Given the description of an element on the screen output the (x, y) to click on. 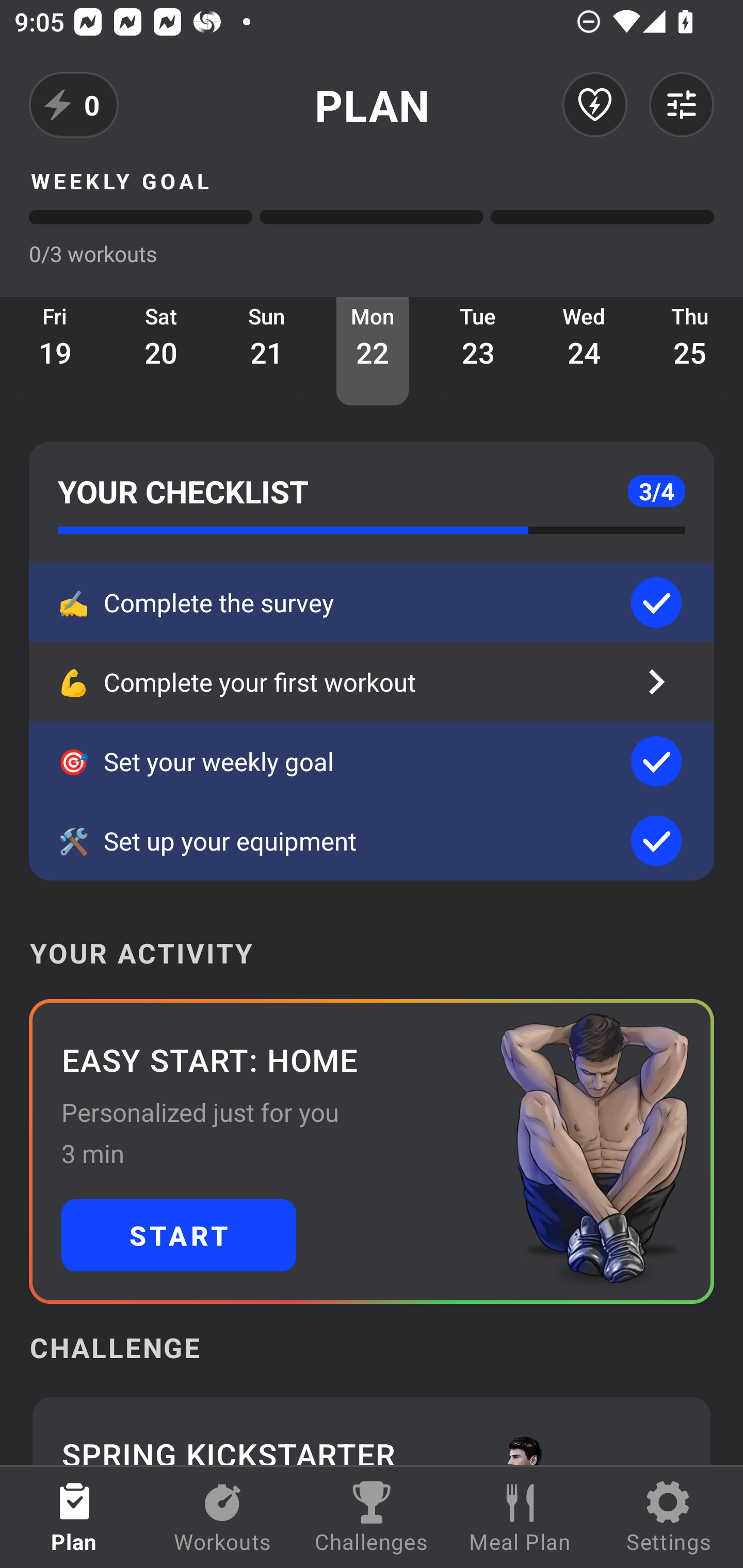
0 (73, 104)
Fri 19 (55, 351)
Sat 20 (160, 351)
Sun 21 (266, 351)
Mon 22 (372, 351)
Tue 23 (478, 351)
Wed 24 (584, 351)
Thu 25 (690, 351)
💪 Complete your first workout (371, 681)
START (178, 1235)
 Workouts  (222, 1517)
 Challenges  (371, 1517)
 Meal Plan  (519, 1517)
 Settings  (668, 1517)
